Given the description of an element on the screen output the (x, y) to click on. 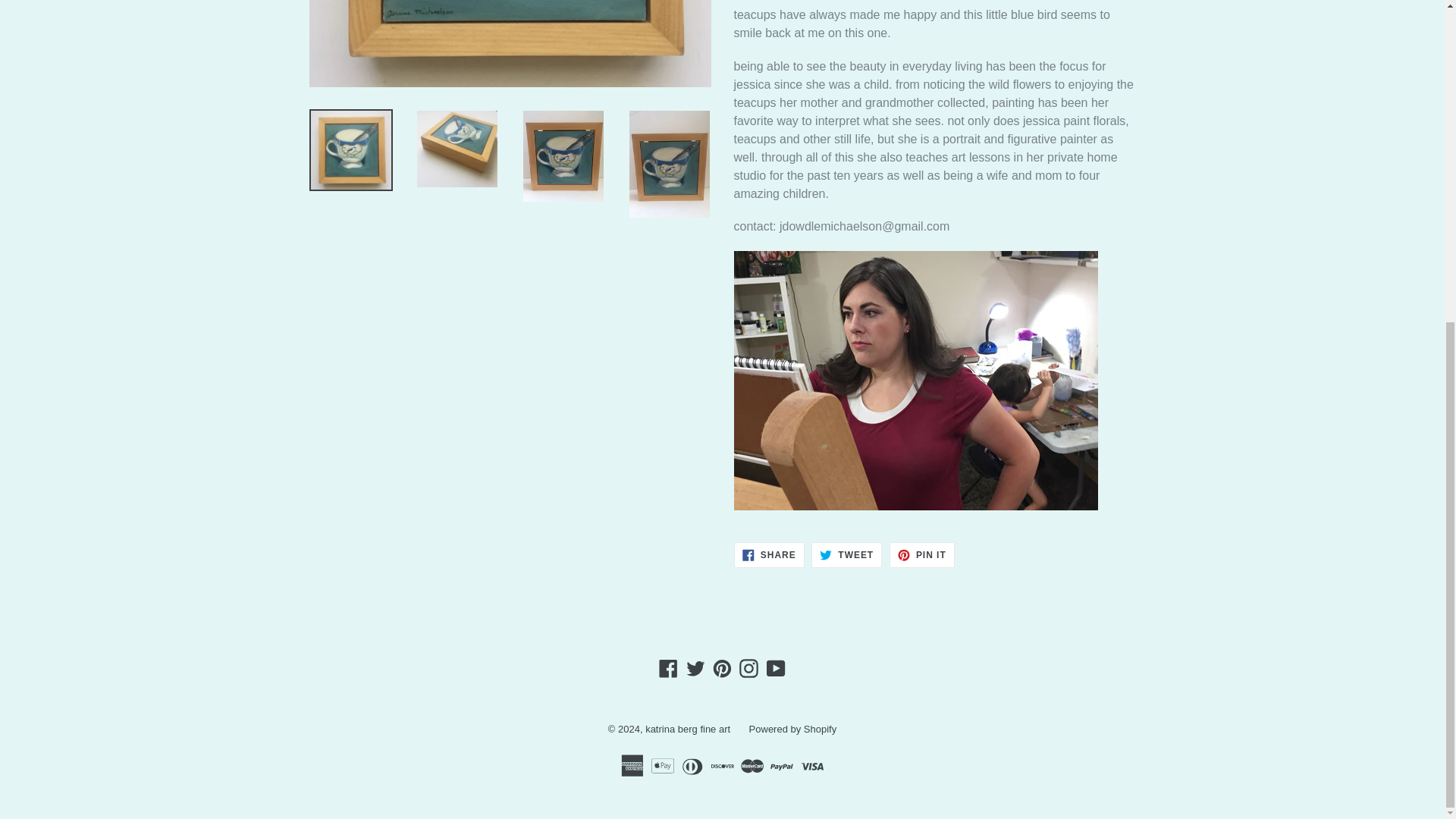
katrina berg fine art on YouTube (775, 668)
Pin on Pinterest (922, 555)
katrina berg fine art on Twitter (695, 668)
katrina berg fine art on Pinterest (721, 668)
Tweet on Twitter (846, 555)
katrina berg fine art on Facebook (667, 668)
Share on Facebook (769, 555)
katrina berg fine art on Instagram (748, 668)
